Given the description of an element on the screen output the (x, y) to click on. 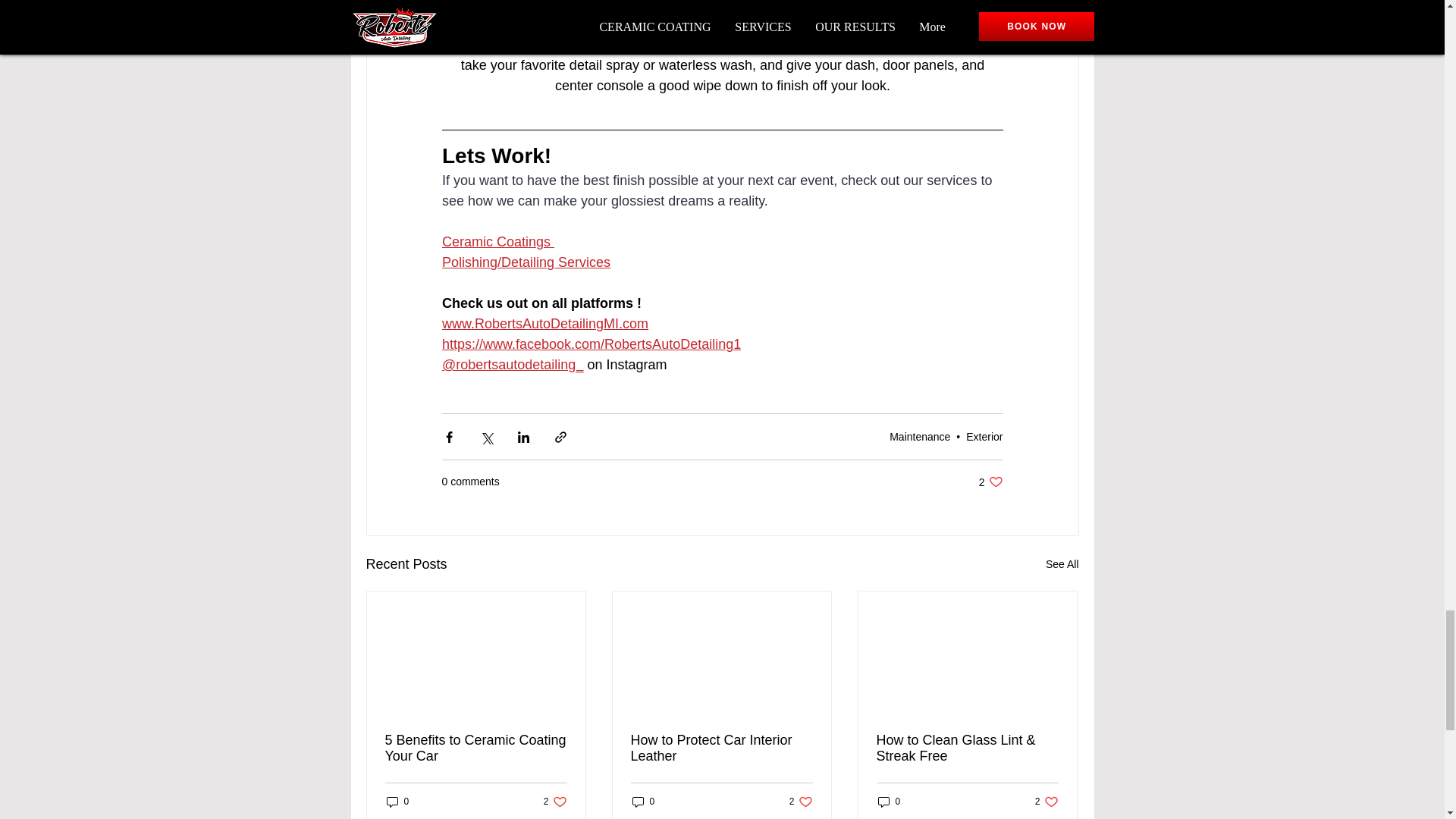
5 Benefits to Ceramic Coating Your Car (476, 748)
Ceramic Coatings  (555, 801)
0 (497, 241)
See All (397, 801)
Maintenance (1061, 564)
www.RobertsAutoDetailingMI.com (919, 436)
Exterior (990, 481)
